Given the description of an element on the screen output the (x, y) to click on. 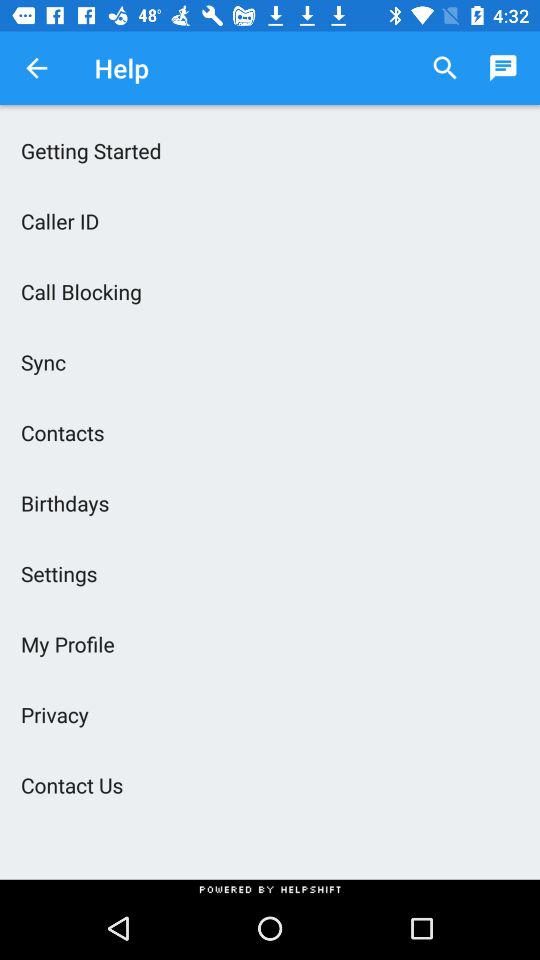
tap icon below birthdays item (270, 573)
